Given the description of an element on the screen output the (x, y) to click on. 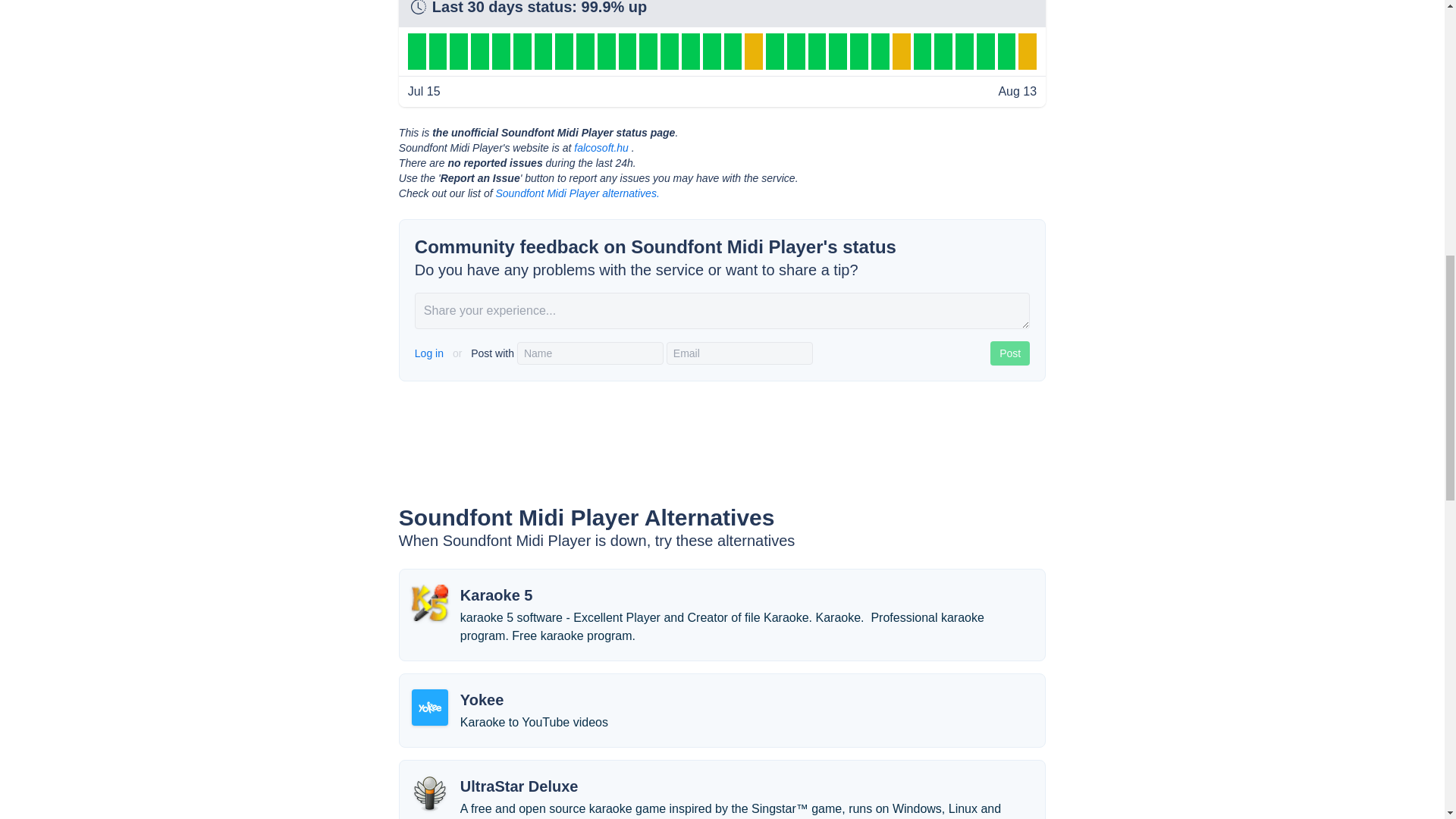
falcosoft.hu (600, 147)
Post (1009, 353)
UltraStar Deluxe (519, 785)
Yokee (481, 699)
Karaoke 5 (496, 595)
Soundfont Midi Player alternatives. (577, 193)
Log in (430, 353)
Post (1009, 353)
